Given the description of an element on the screen output the (x, y) to click on. 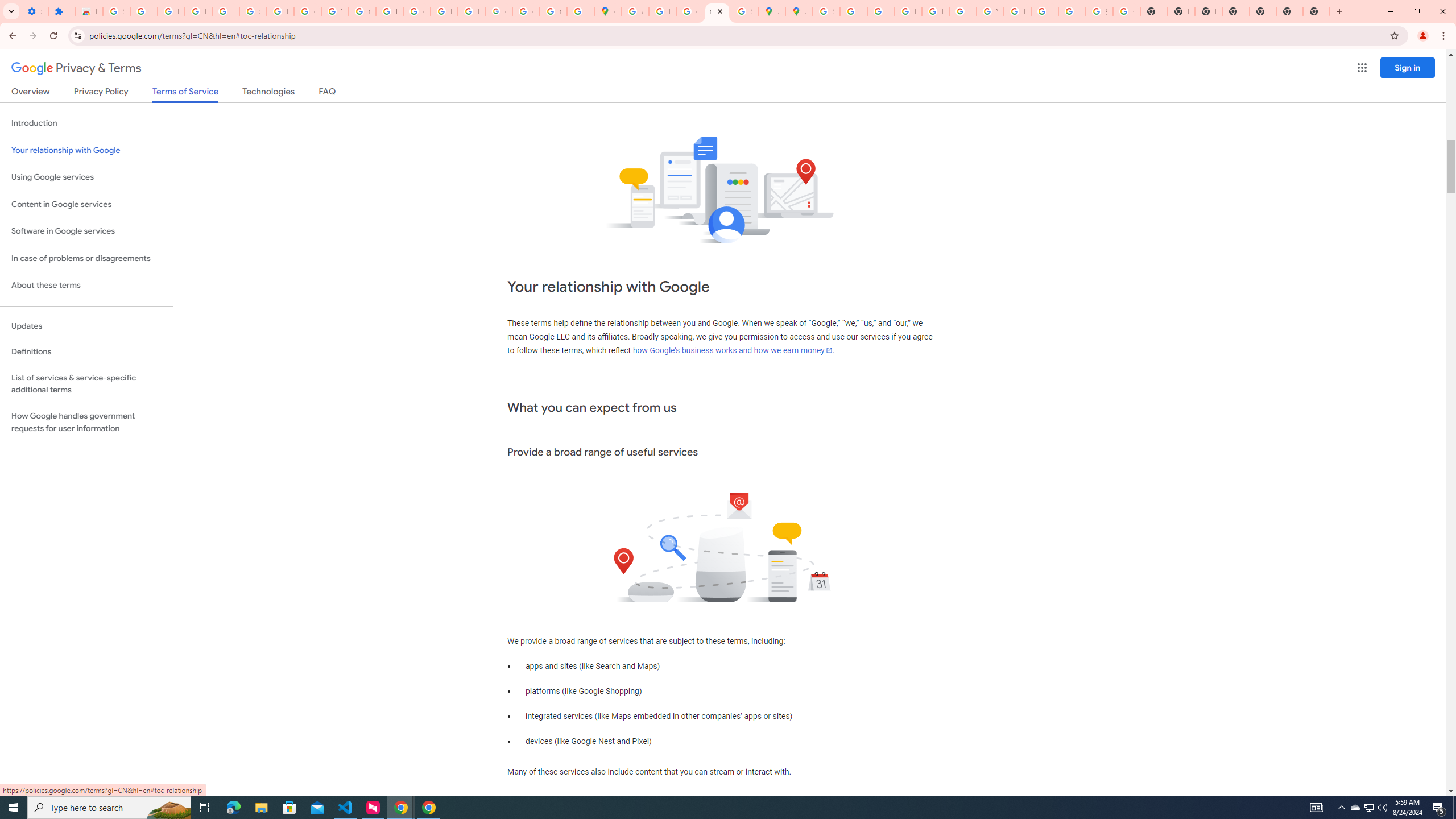
YouTube (334, 11)
Your relationship with Google (86, 150)
Privacy Help Center - Policies Help (880, 11)
About these terms (86, 284)
